Given the description of an element on the screen output the (x, y) to click on. 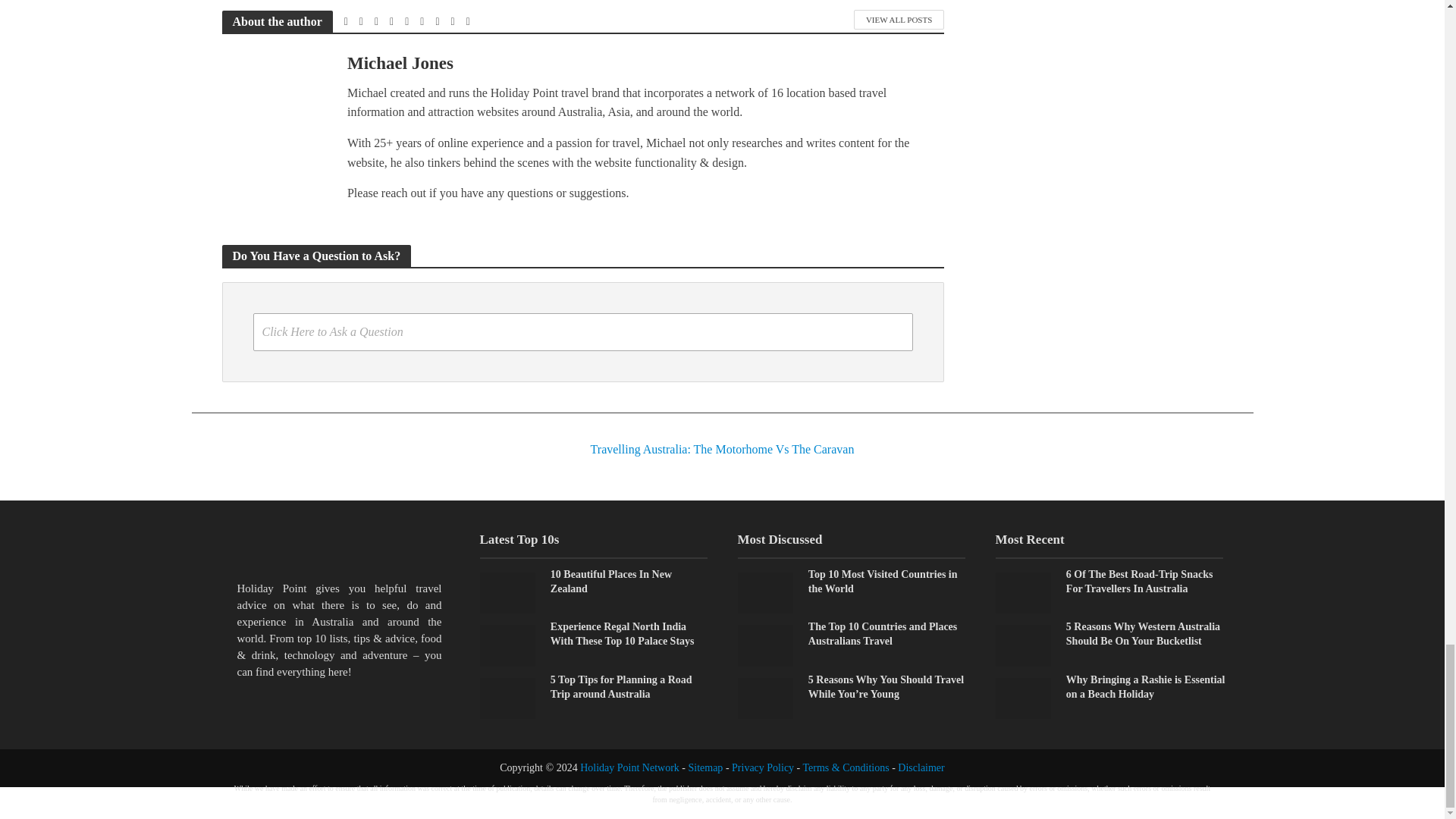
Travelling Australia: The Motorhome Vs The Caravan (721, 435)
